Given the description of an element on the screen output the (x, y) to click on. 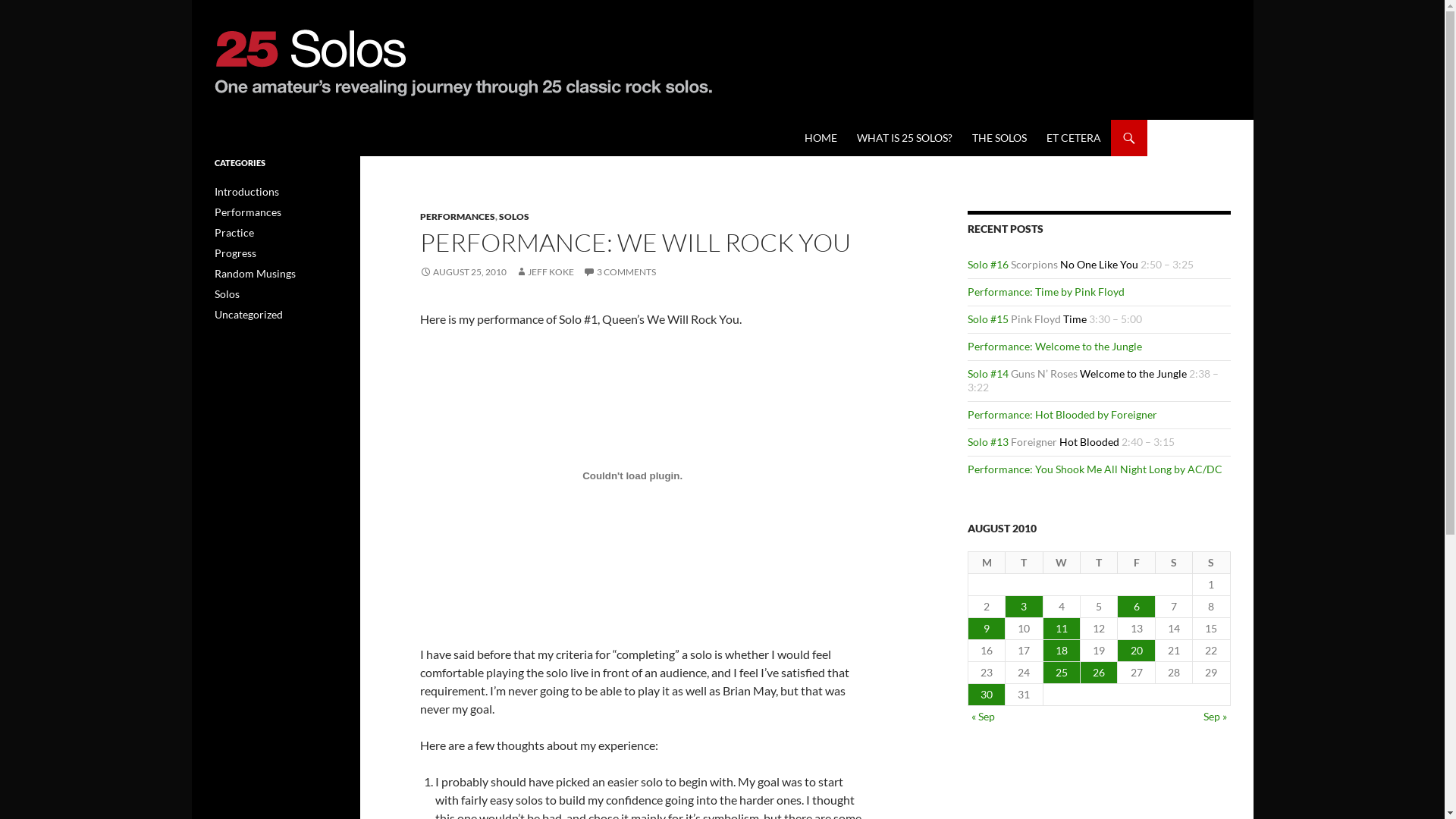
Performance: You Shook Me All Night Long by AC/DC Element type: text (1094, 468)
6 Element type: text (1135, 606)
Performance: Time by Pink Floyd Element type: text (1045, 291)
9 Element type: text (986, 628)
PERFORMANCES Element type: text (457, 216)
26 Element type: text (1098, 672)
30 Element type: text (986, 694)
18 Element type: text (1061, 650)
ET CETERA Element type: text (1073, 137)
HOME Element type: text (819, 137)
Introductions Element type: text (245, 191)
WHAT IS 25 SOLOS? Element type: text (904, 137)
11 Element type: text (1061, 628)
Performance: Welcome to the Jungle Element type: text (1054, 345)
SKIP TO CONTENT Element type: text (803, 119)
3 COMMENTS Element type: text (619, 271)
Performance: Hot Blooded by Foreigner Element type: text (1062, 413)
Performances Element type: text (246, 211)
Search Element type: text (195, 119)
3 Element type: text (1023, 606)
25 Element type: text (1061, 672)
JEFF KOKE Element type: text (544, 271)
THE SOLOS Element type: text (999, 137)
Practice Element type: text (233, 231)
AUGUST 25, 2010 Element type: text (463, 271)
20 Element type: text (1135, 650)
Random Musings Element type: text (253, 272)
SOLOS Element type: text (513, 216)
Uncategorized Element type: text (247, 313)
Progress Element type: text (234, 252)
25 Solos Element type: text (238, 137)
Solos Element type: text (225, 293)
